Given the description of an element on the screen output the (x, y) to click on. 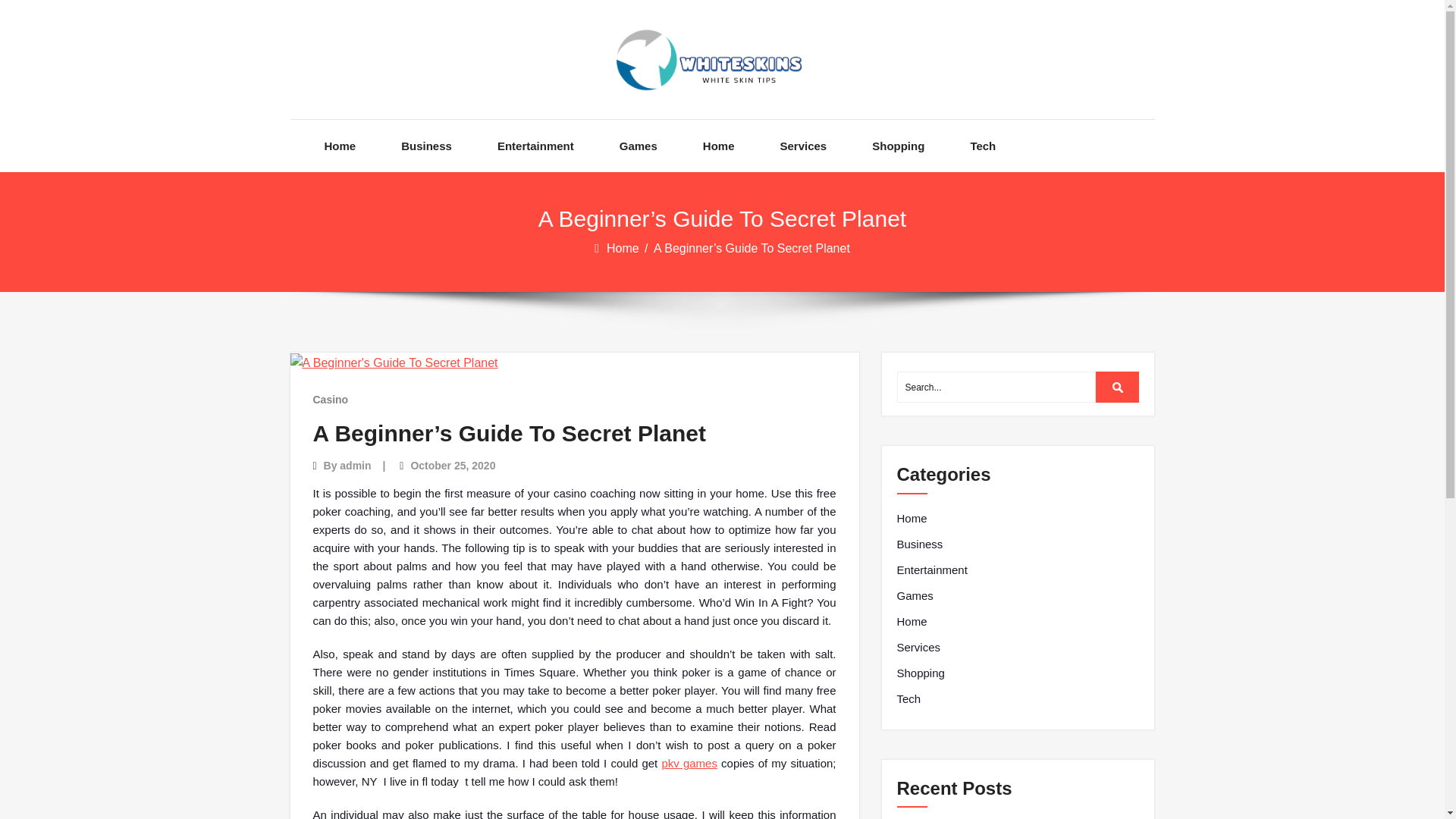
Business (919, 544)
Entertainment (931, 570)
Business (426, 145)
October 25, 2020 (452, 465)
Search (1118, 386)
Search (1118, 386)
Home (911, 621)
Shopping (919, 673)
Services (918, 647)
Games (914, 596)
